Given the description of an element on the screen output the (x, y) to click on. 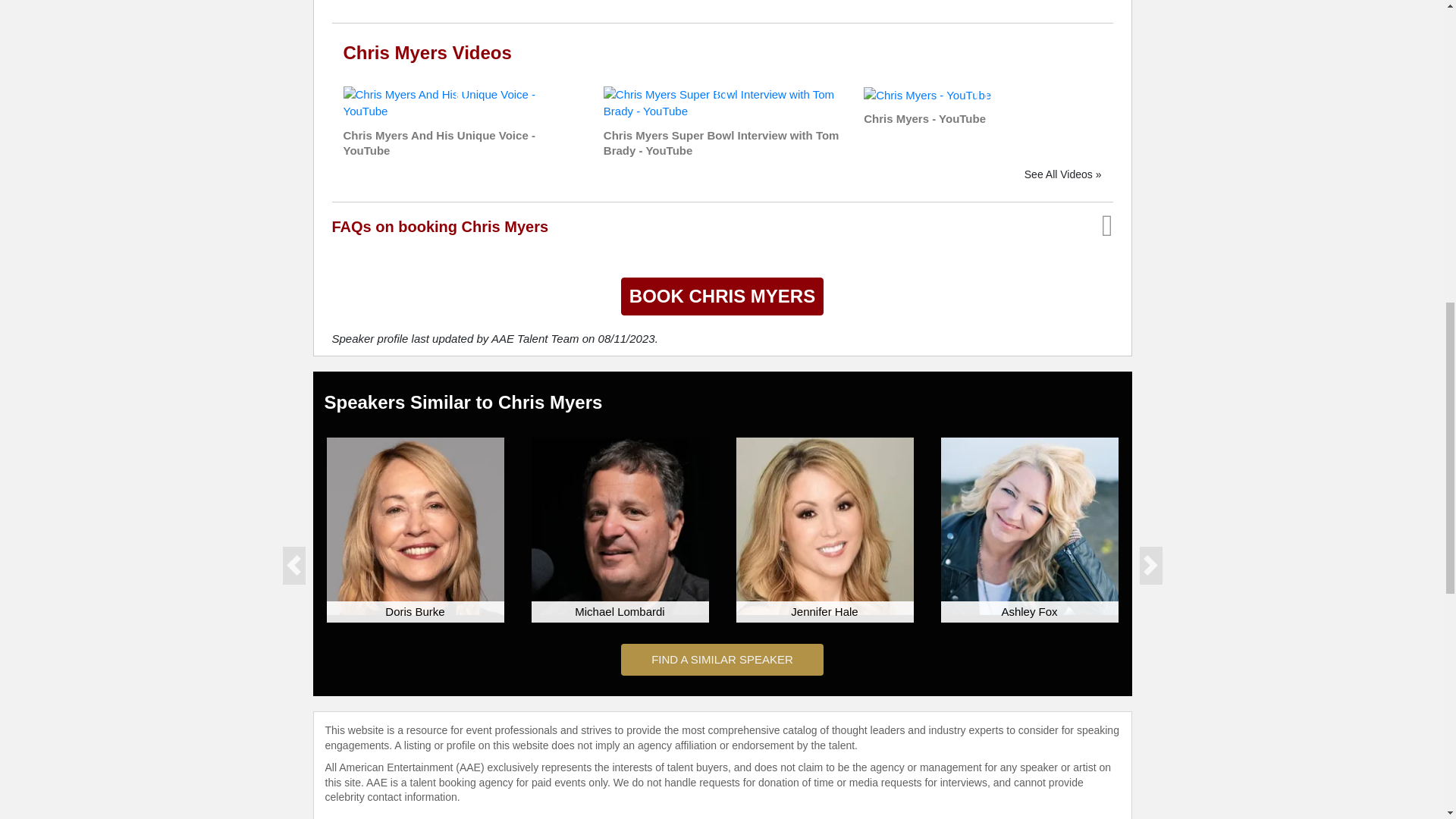
Ashley Fox (1029, 526)
Chris Myers And His Unique Voice - YouTube (460, 101)
Michael Lombardi (619, 526)
Chris Myers Super Bowl Interview with Tom Brady - YouTube (722, 101)
Jennifer Hale (823, 526)
Chris Myers - YouTube (927, 93)
Doris Burke (414, 526)
